Given the description of an element on the screen output the (x, y) to click on. 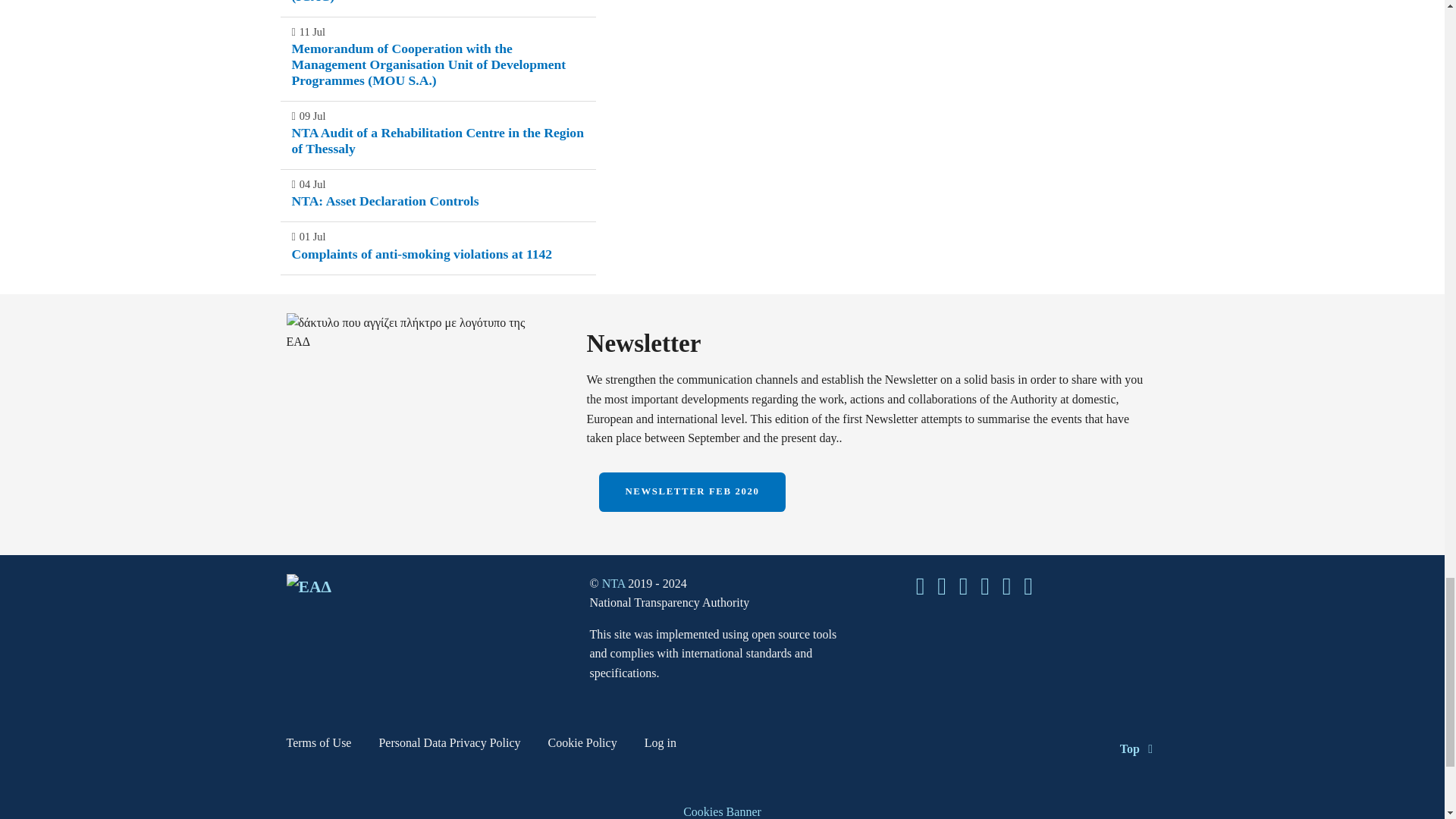
Back to top (1138, 748)
 Terms of Use  (319, 746)
Cookie Policy (582, 746)
Personal Data Privacy Policy (448, 746)
Log in (661, 746)
NTA (615, 583)
